Given the description of an element on the screen output the (x, y) to click on. 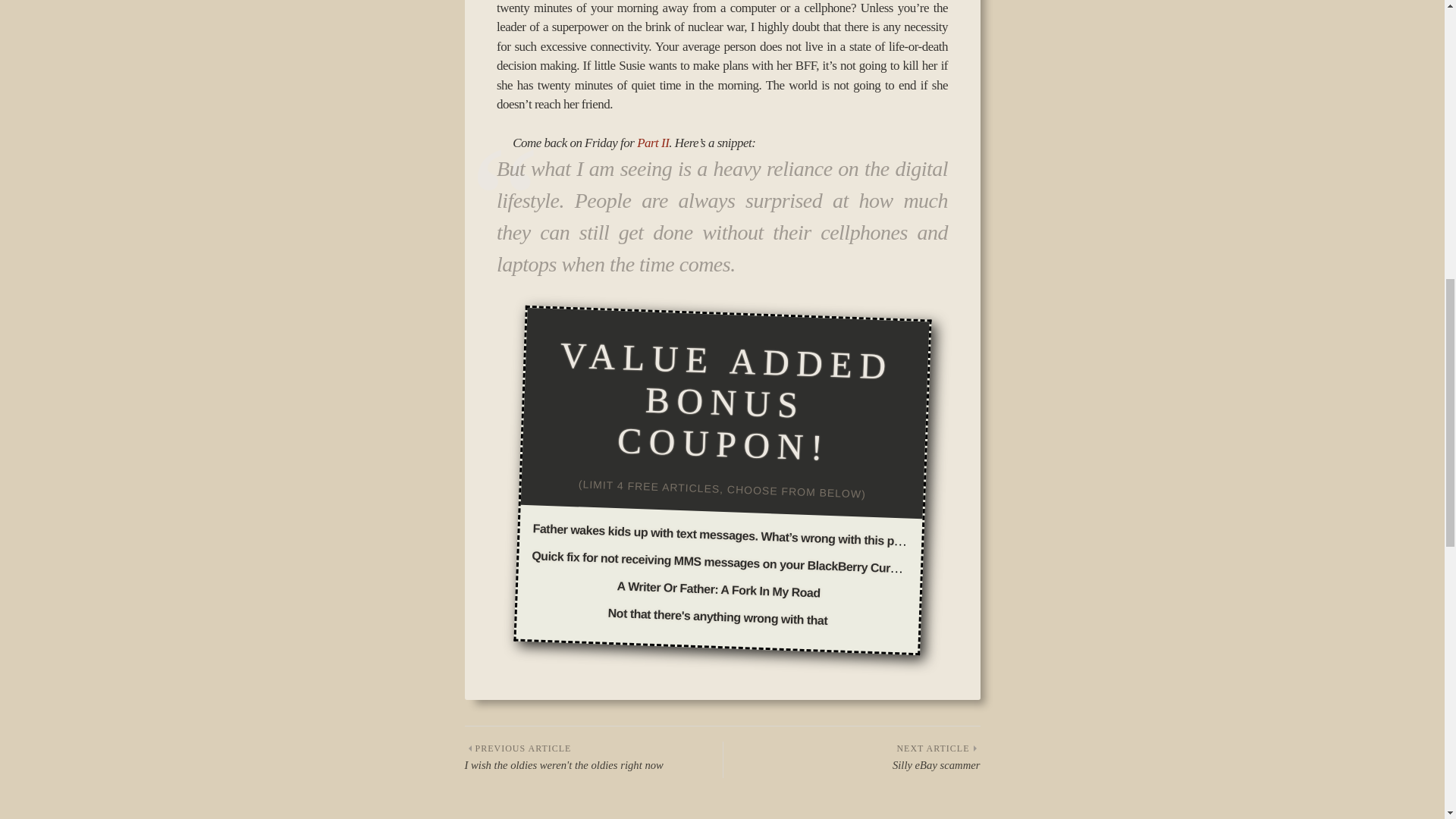
A Writer Or Father: A Fork In My Road (851, 757)
Not that there's anything wrong with that (717, 585)
Part II (717, 612)
